Given the description of an element on the screen output the (x, y) to click on. 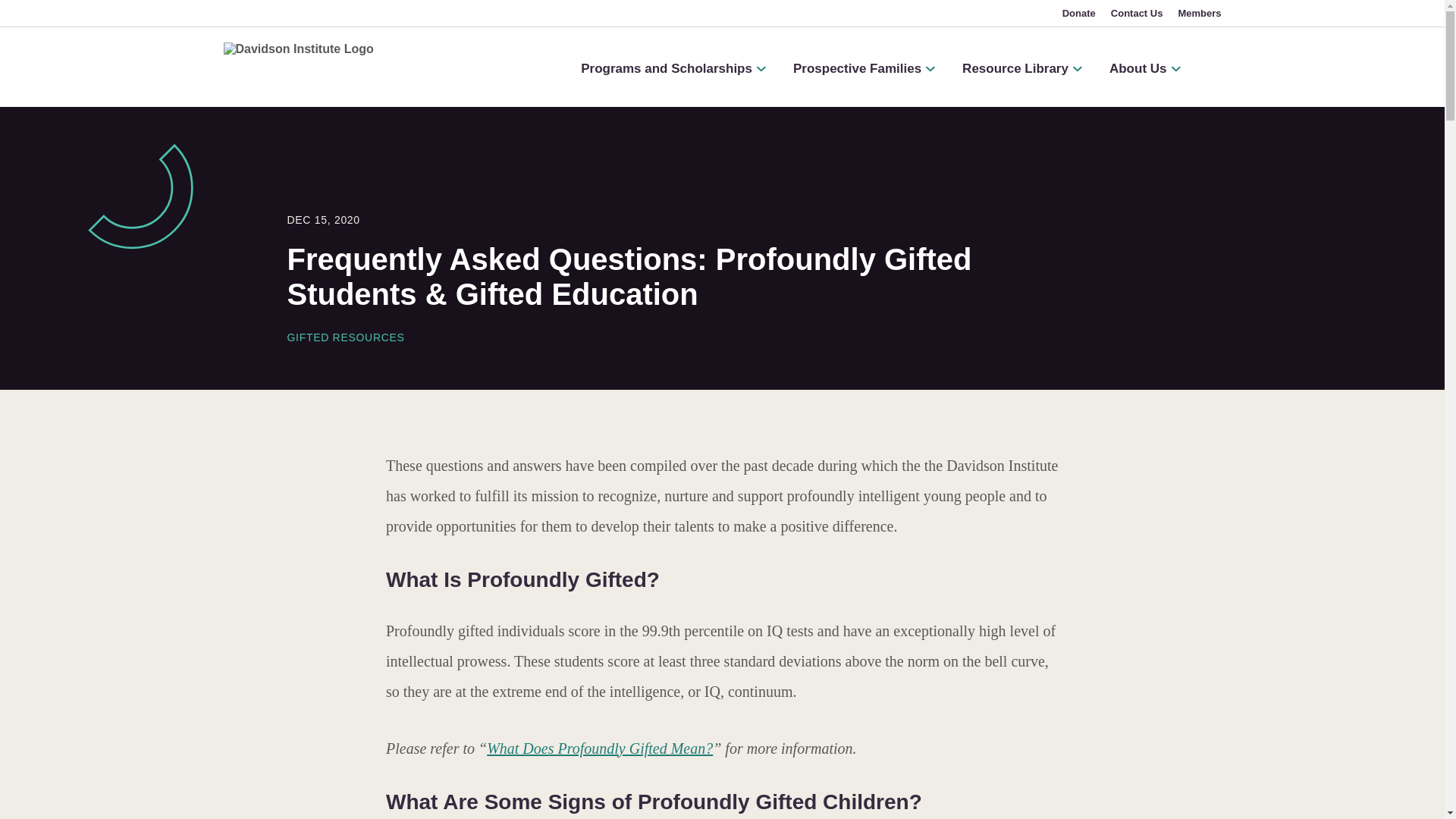
Contact Us (1136, 12)
Prospective Families (864, 68)
Programs and Scholarships (673, 68)
Donate (1079, 12)
About Us (1145, 68)
Resource Library (1021, 68)
Members (1199, 12)
